Given the description of an element on the screen output the (x, y) to click on. 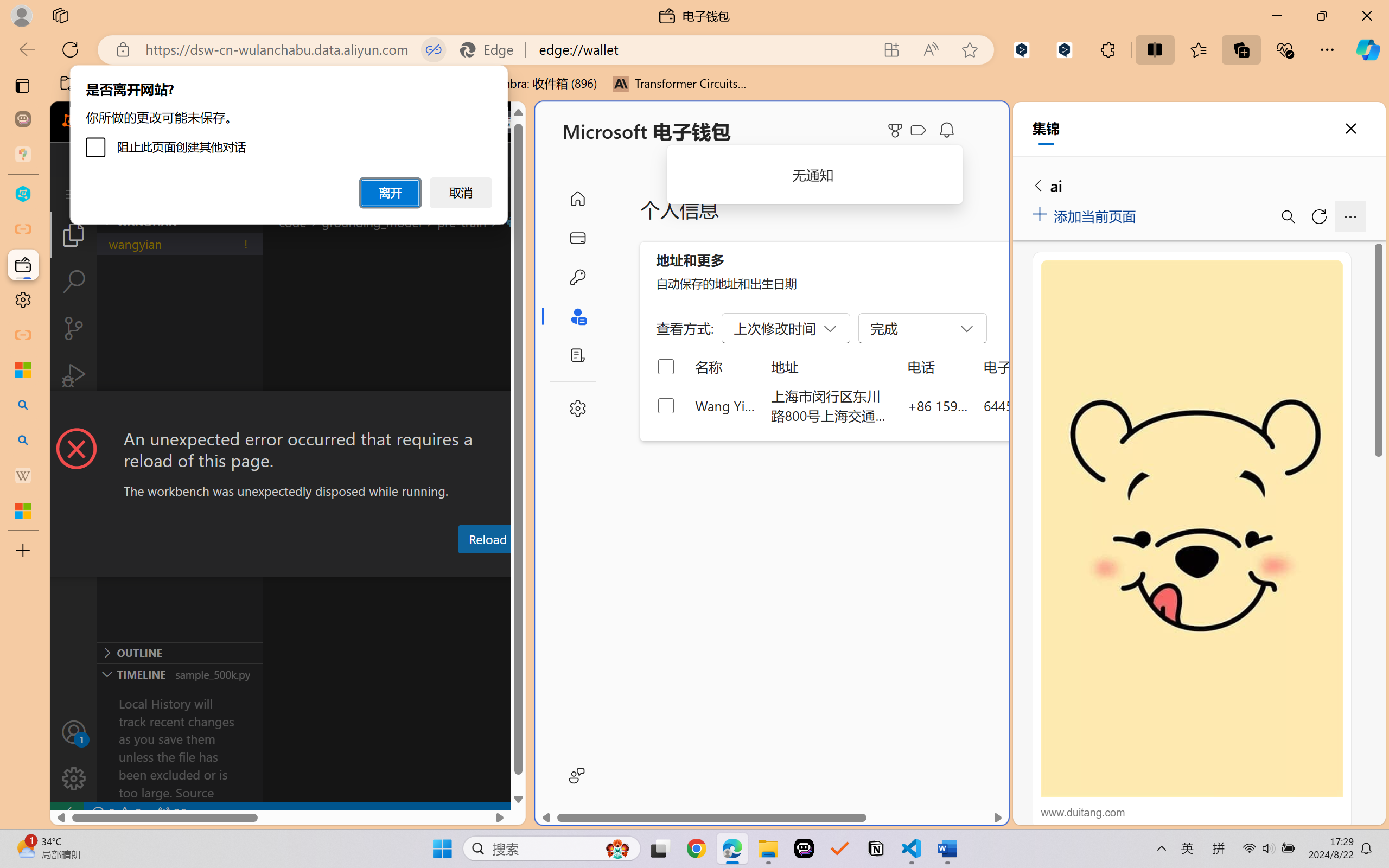
Microsoft Rewards (896, 129)
Timeline Section (179, 673)
Copilot (Ctrl+Shift+.) (1368, 49)
